Given the description of an element on the screen output the (x, y) to click on. 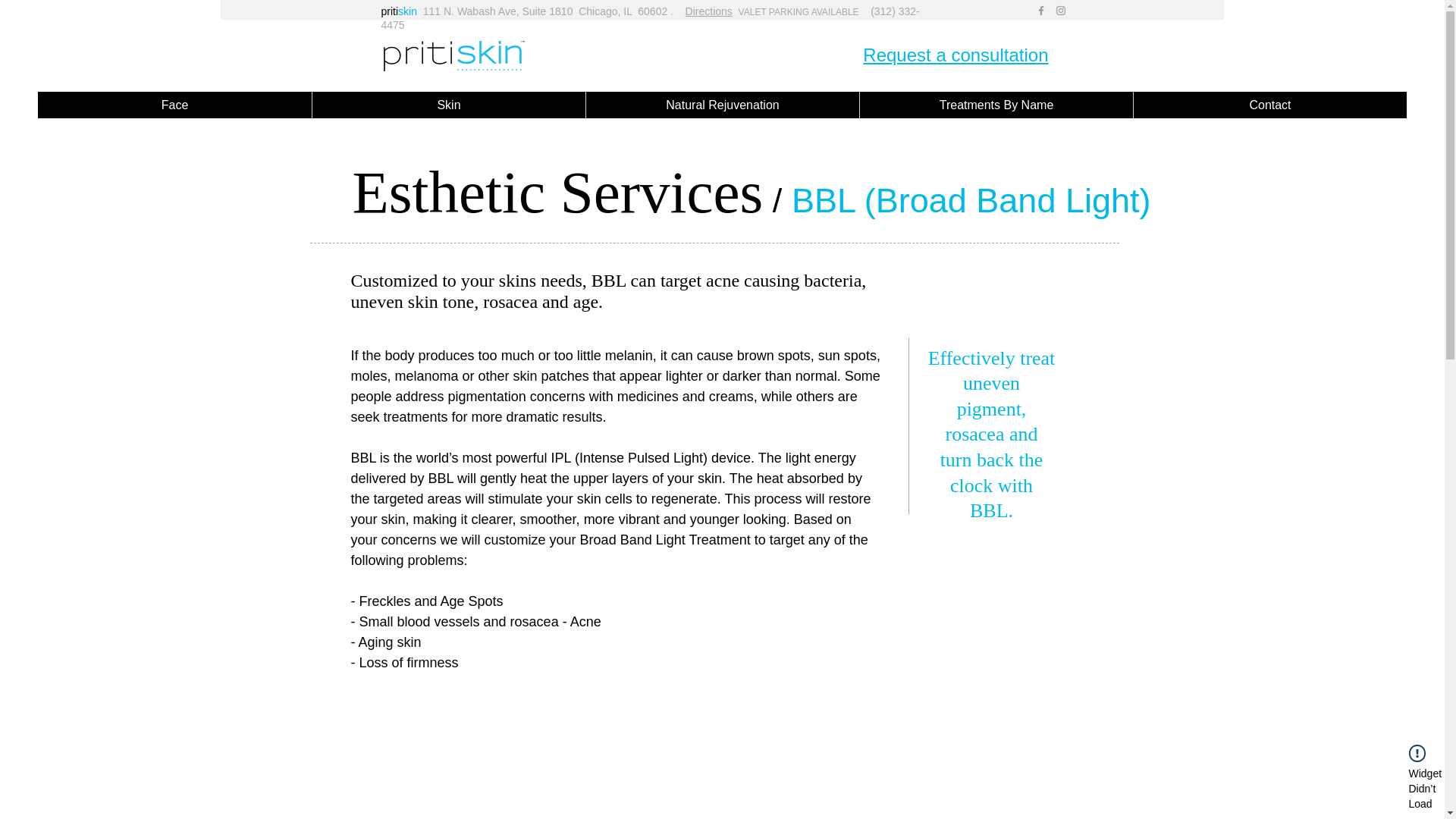
Directions (708, 10)
Site Search (1168, 59)
Treatments By Name (995, 104)
Skin (448, 104)
Face (174, 104)
External YouTube (581, 763)
Request a consultation (955, 55)
Natural Rejuvenation (722, 104)
